Given the description of an element on the screen output the (x, y) to click on. 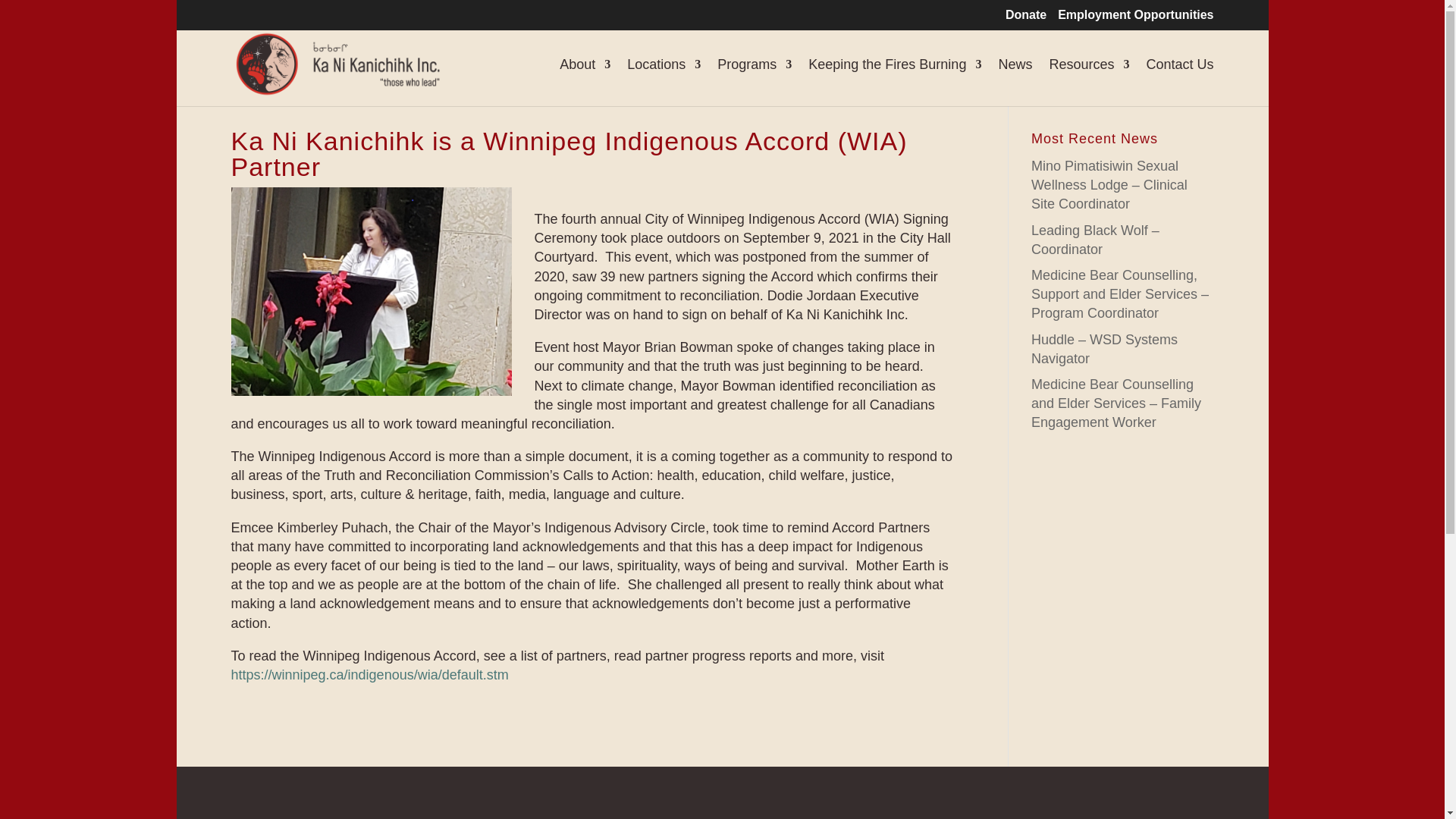
Donate (1026, 19)
Programs (754, 82)
About (584, 82)
Employment Opportunities (1135, 19)
Locations (663, 82)
Keeping the Fires Burning (894, 82)
Resources (1088, 82)
